Given the description of an element on the screen output the (x, y) to click on. 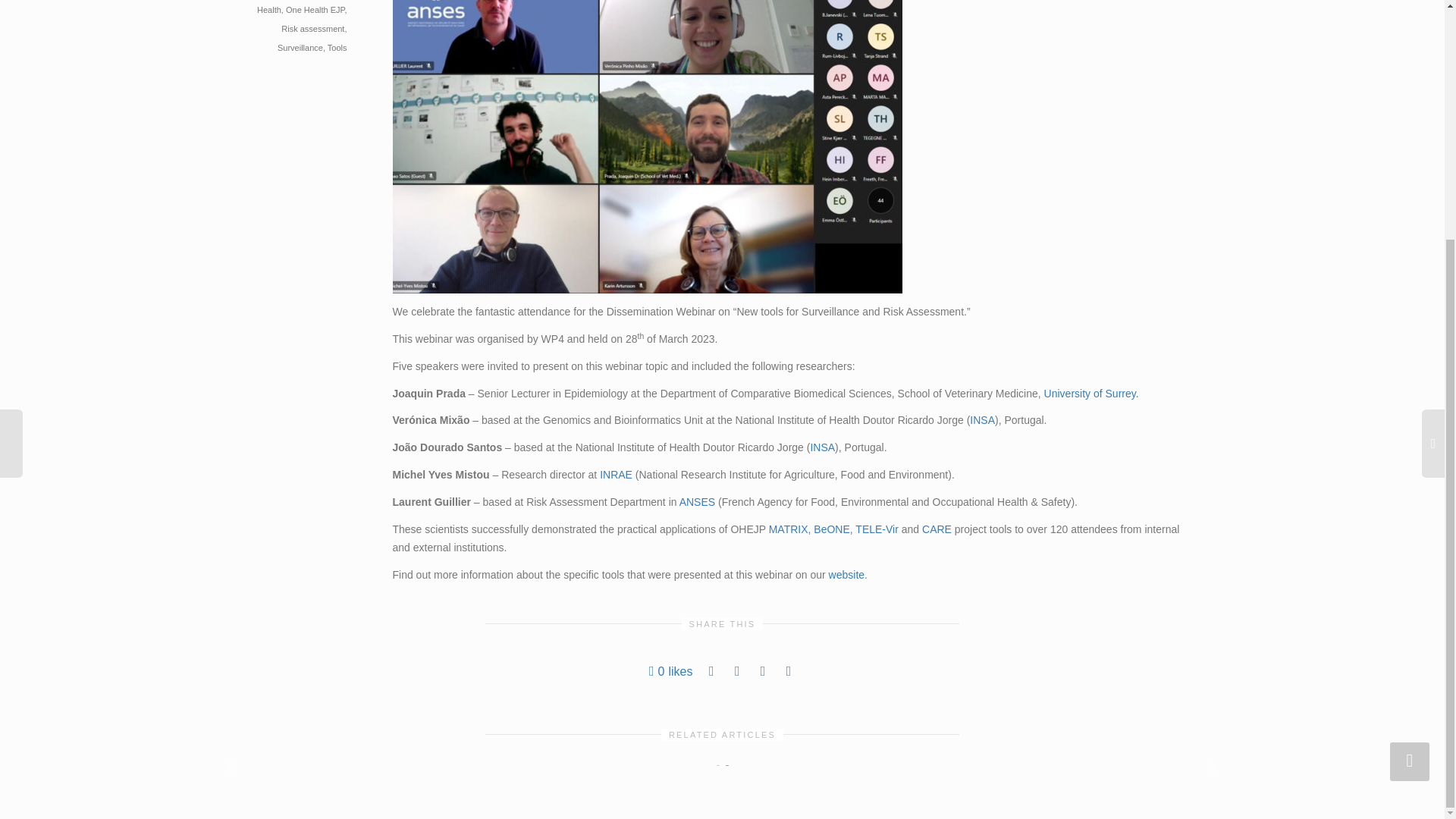
Like this (671, 670)
